Given the description of an element on the screen output the (x, y) to click on. 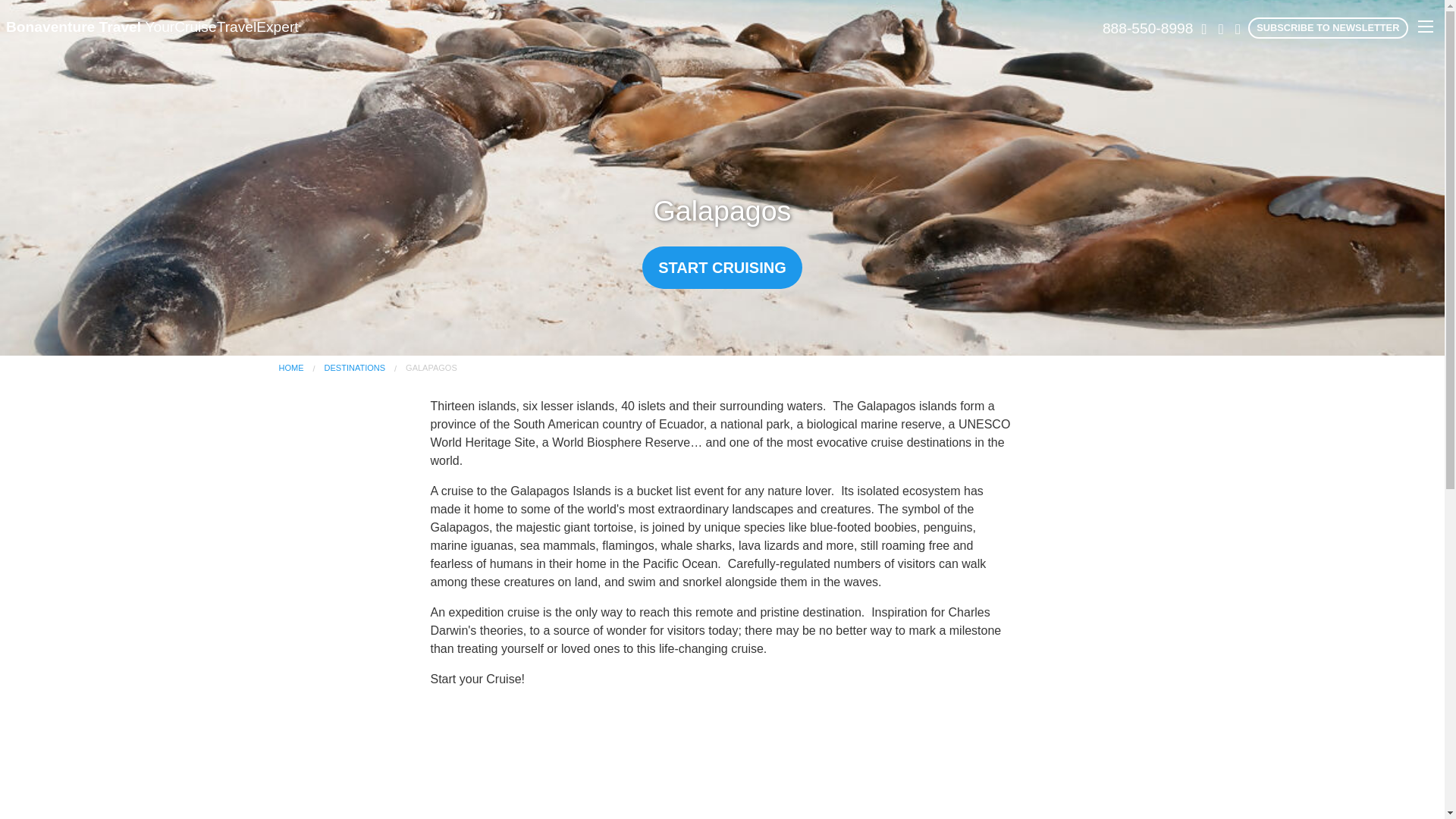
HOME (291, 367)
Bonaventure Travel YourCruiseTravelExpert (151, 26)
START CRUISING (722, 267)
SUBSCRIBE TO NEWSLETTER (1327, 27)
DESTINATIONS (354, 367)
888-550-8998 (1146, 29)
